Given the description of an element on the screen output the (x, y) to click on. 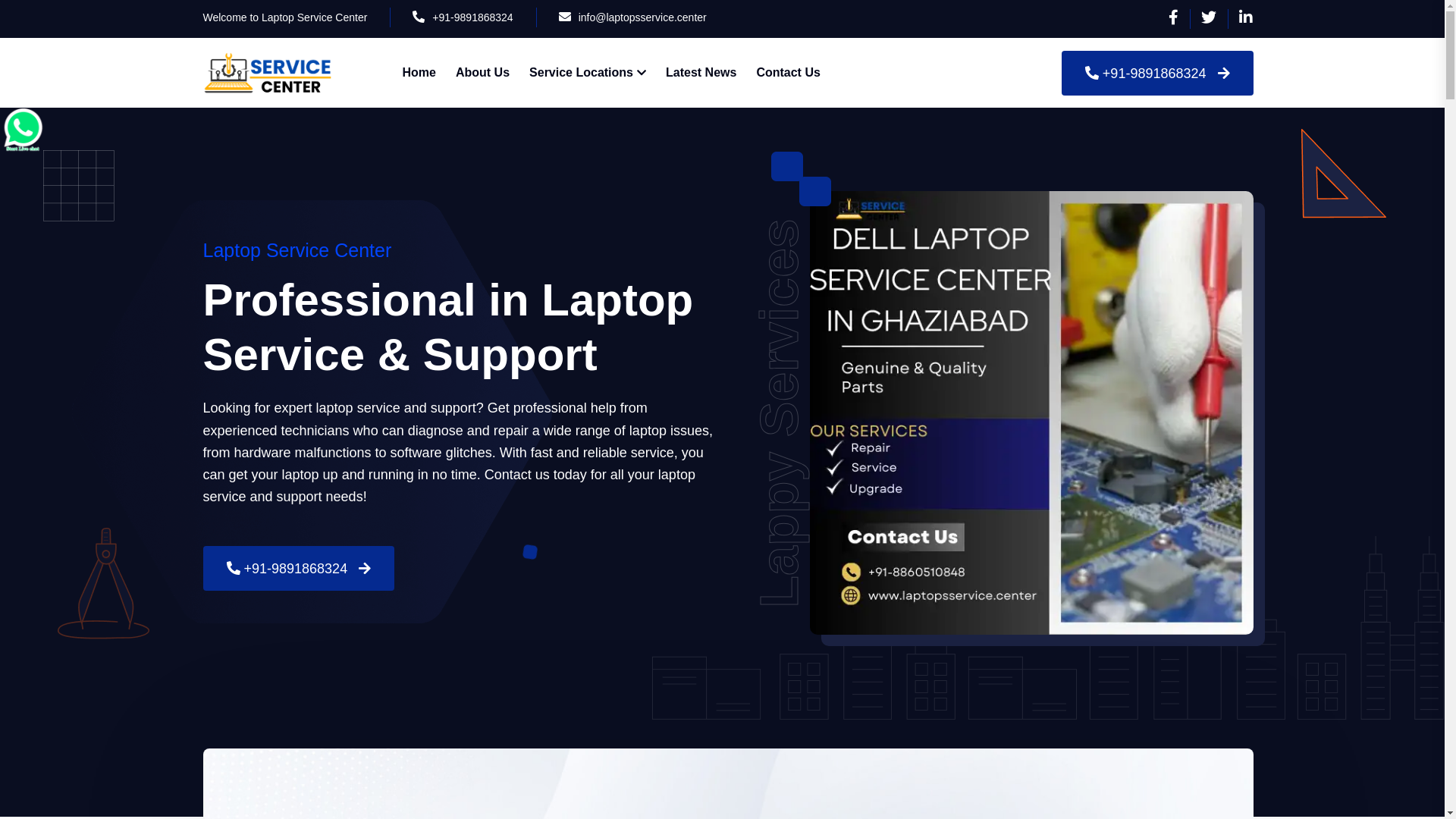
info@laptopsservice.center Element type: text (642, 17)
Service Locations Element type: text (587, 72)
+91-9891868324 Element type: text (1157, 72)
About Us Element type: text (482, 72)
Home Element type: text (418, 72)
Contact Us Element type: text (787, 72)
+91-9891868324 Element type: text (298, 568)
+91-9891868324 Element type: text (472, 17)
Latest News Element type: text (700, 72)
